Given the description of an element on the screen output the (x, y) to click on. 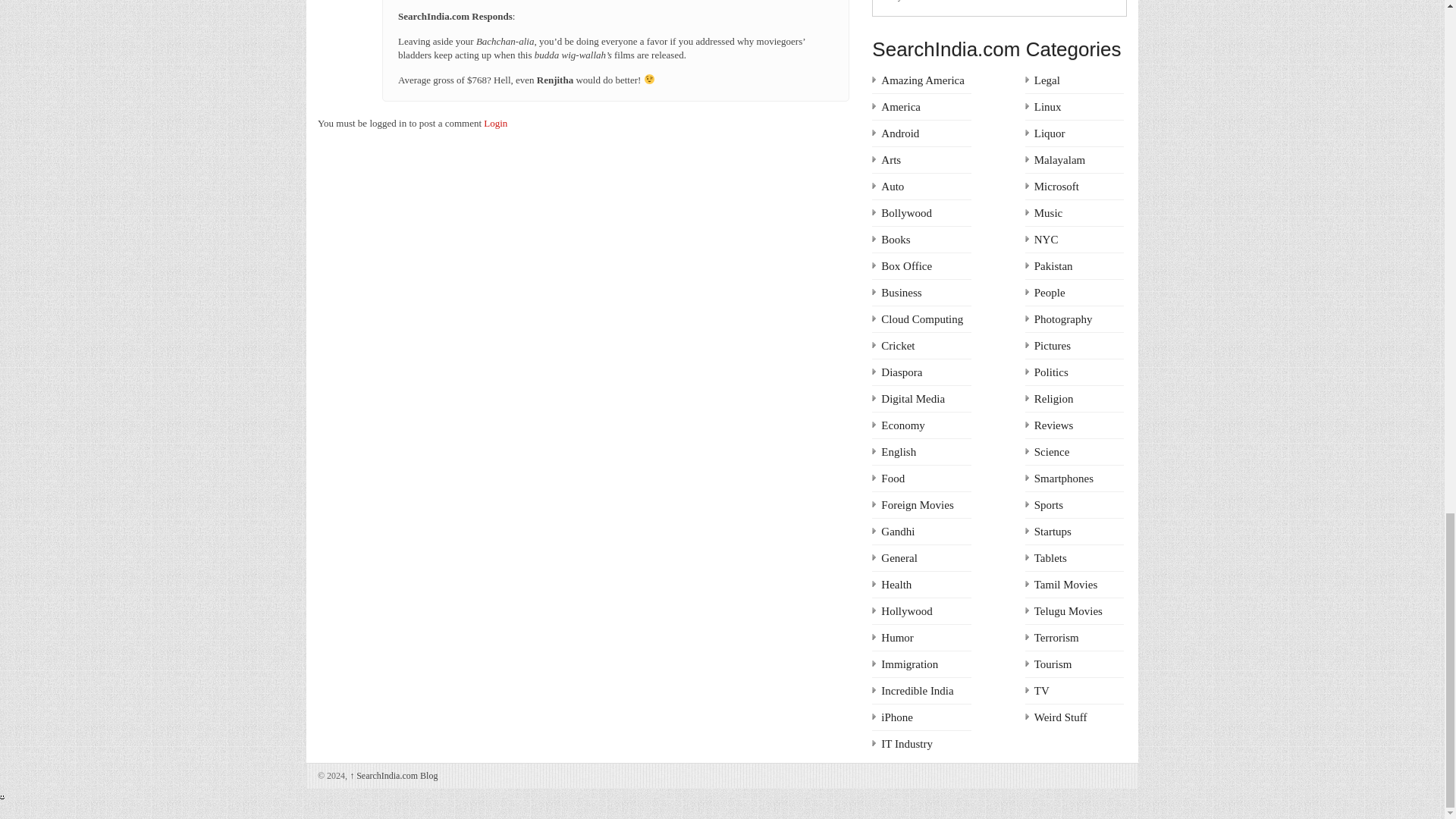
Login (494, 122)
